Given the description of an element on the screen output the (x, y) to click on. 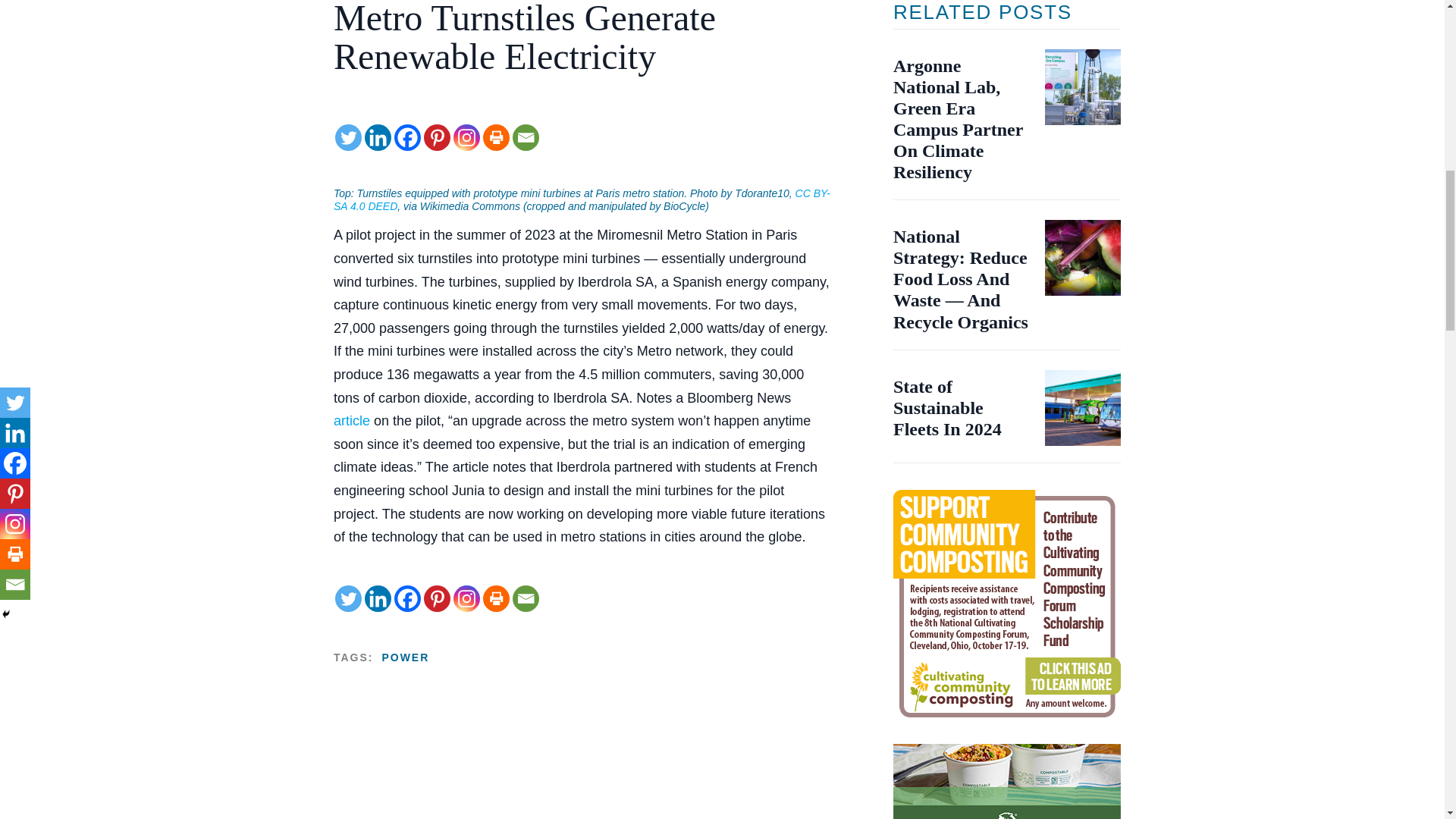
Twitter (347, 137)
Instagram (466, 137)
Facebook (407, 598)
Pinterest (436, 137)
Facebook (407, 137)
Email (525, 598)
Pinterest (436, 598)
Twitter (347, 598)
Print (496, 137)
Linkedin (378, 598)
Email (525, 137)
Instagram (466, 598)
Print (496, 598)
Linkedin (378, 137)
